Given the description of an element on the screen output the (x, y) to click on. 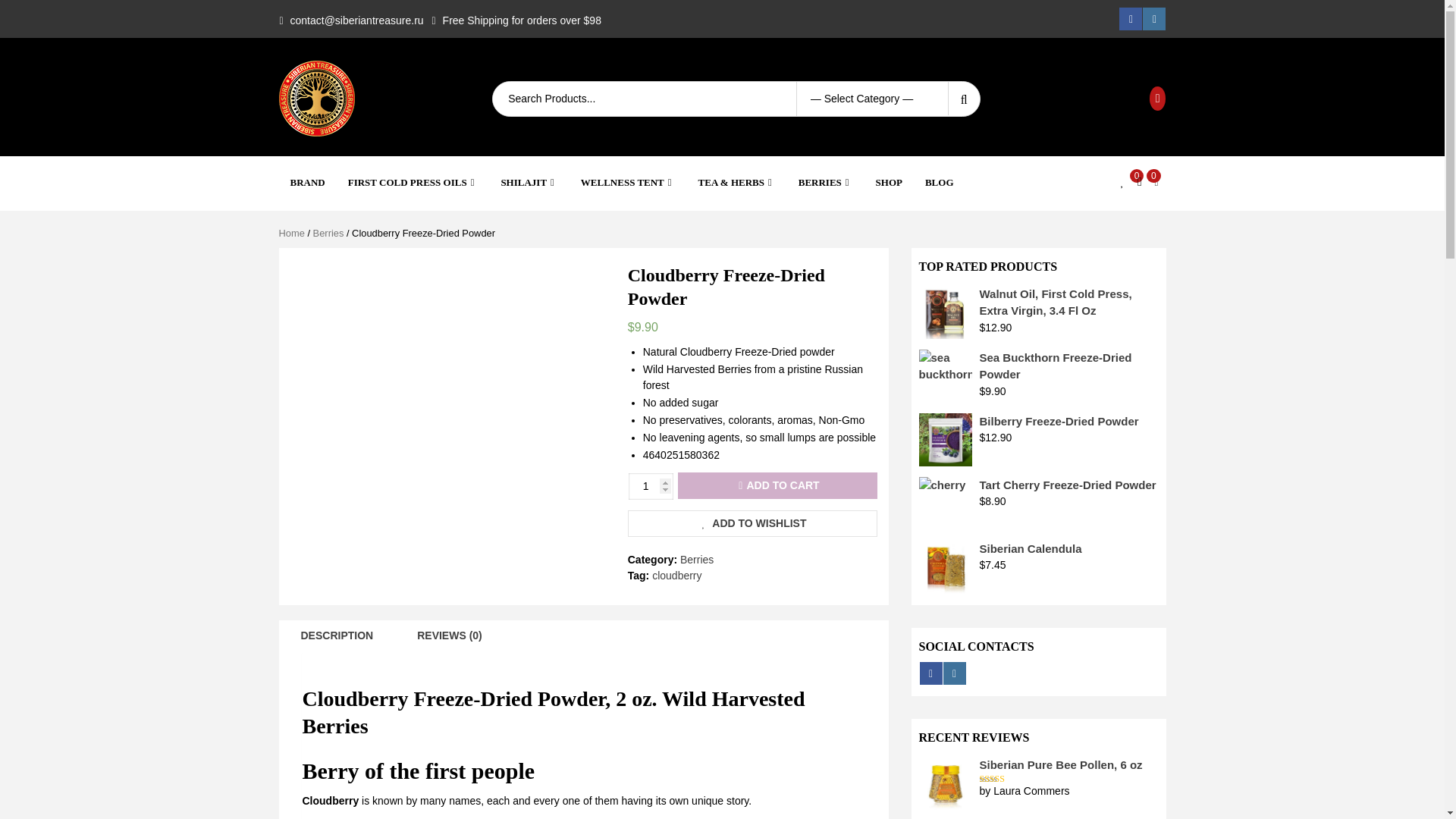
FIRST COLD PRESS OILS (413, 182)
Qty (650, 486)
Facebook (1130, 18)
WELLNESS TENT (627, 182)
BRAND (306, 182)
Instagram (1154, 18)
1 (650, 486)
SHILAJIT (528, 182)
